Given the description of an element on the screen output the (x, y) to click on. 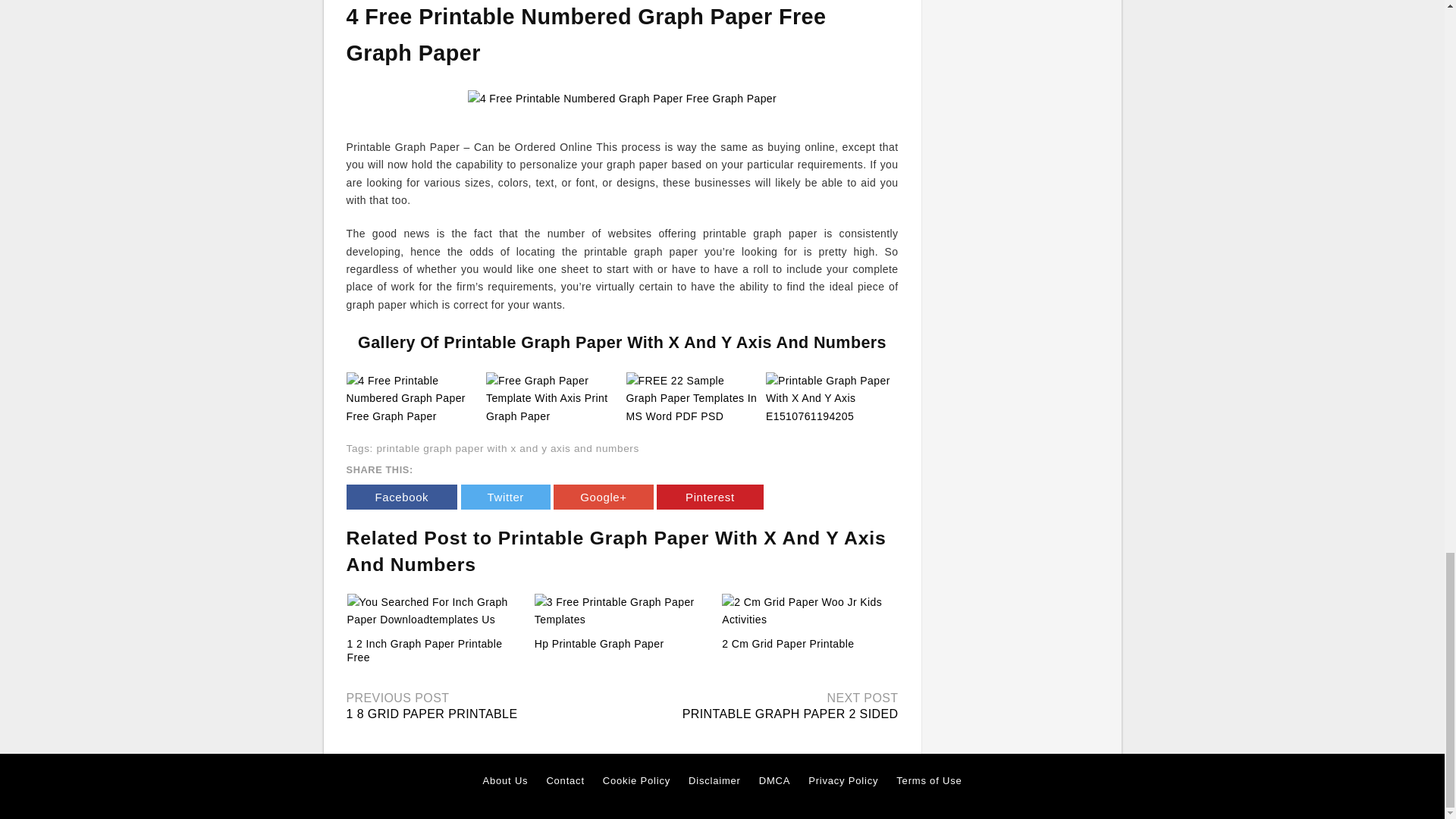
1 2 Inch Graph Paper Printable Free (424, 650)
Hp Printable Graph Paper (622, 611)
2 Cm Grid Paper Printable (809, 611)
Pinterest (709, 496)
Free Graph Paper Template With Axis Print Graph Paper (552, 398)
FREE 22 Sample Graph Paper Templates In MS Word PDF PSD (692, 398)
Printable Graph Paper With X And Y Axis E1510761194205 (831, 398)
4 Free Printable Numbered Graph Paper Free Graph Paper (412, 398)
printable graph paper with x and y axis and numbers (507, 448)
1 8 GRID PAPER PRINTABLE (431, 713)
4 Free Printable Numbered Graph Paper Free Graph Paper (412, 398)
1 2 Inch Graph Paper Printable Free (434, 611)
Free Graph Paper Template With Axis Print Graph Paper (552, 398)
2 Cm Grid Paper Printable (787, 644)
FREE 22 Sample Graph Paper Templates In MS Word PDF PSD (692, 398)
